Given the description of an element on the screen output the (x, y) to click on. 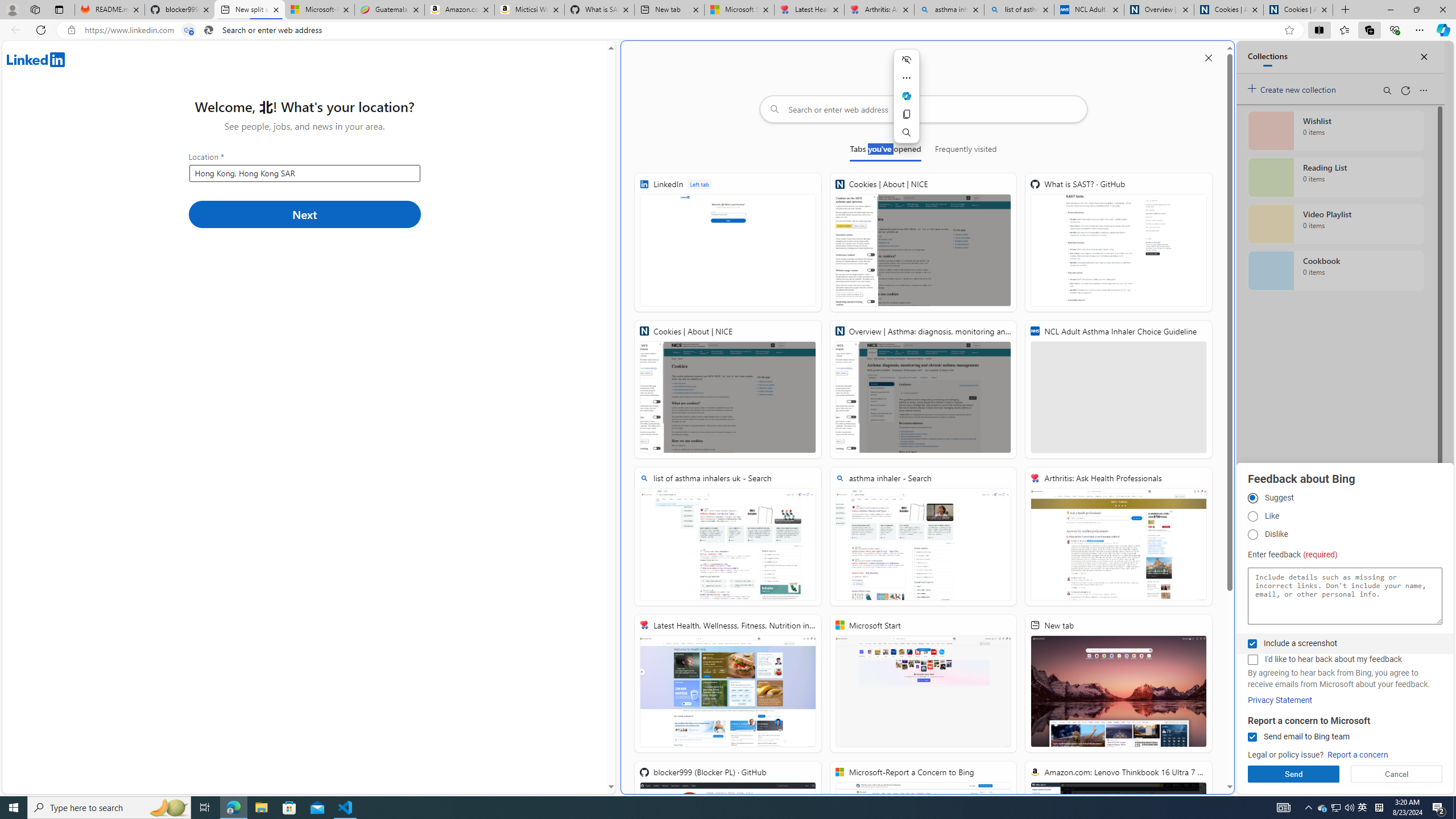
NCL Adult Asthma Inhaler Choice Guideline (1088, 9)
Send email to Bing team (1251, 737)
Cancel (1396, 773)
list of asthma inhalers uk - Search (727, 536)
Suggest (1252, 498)
asthma inhaler - Search (949, 9)
